Given the description of an element on the screen output the (x, y) to click on. 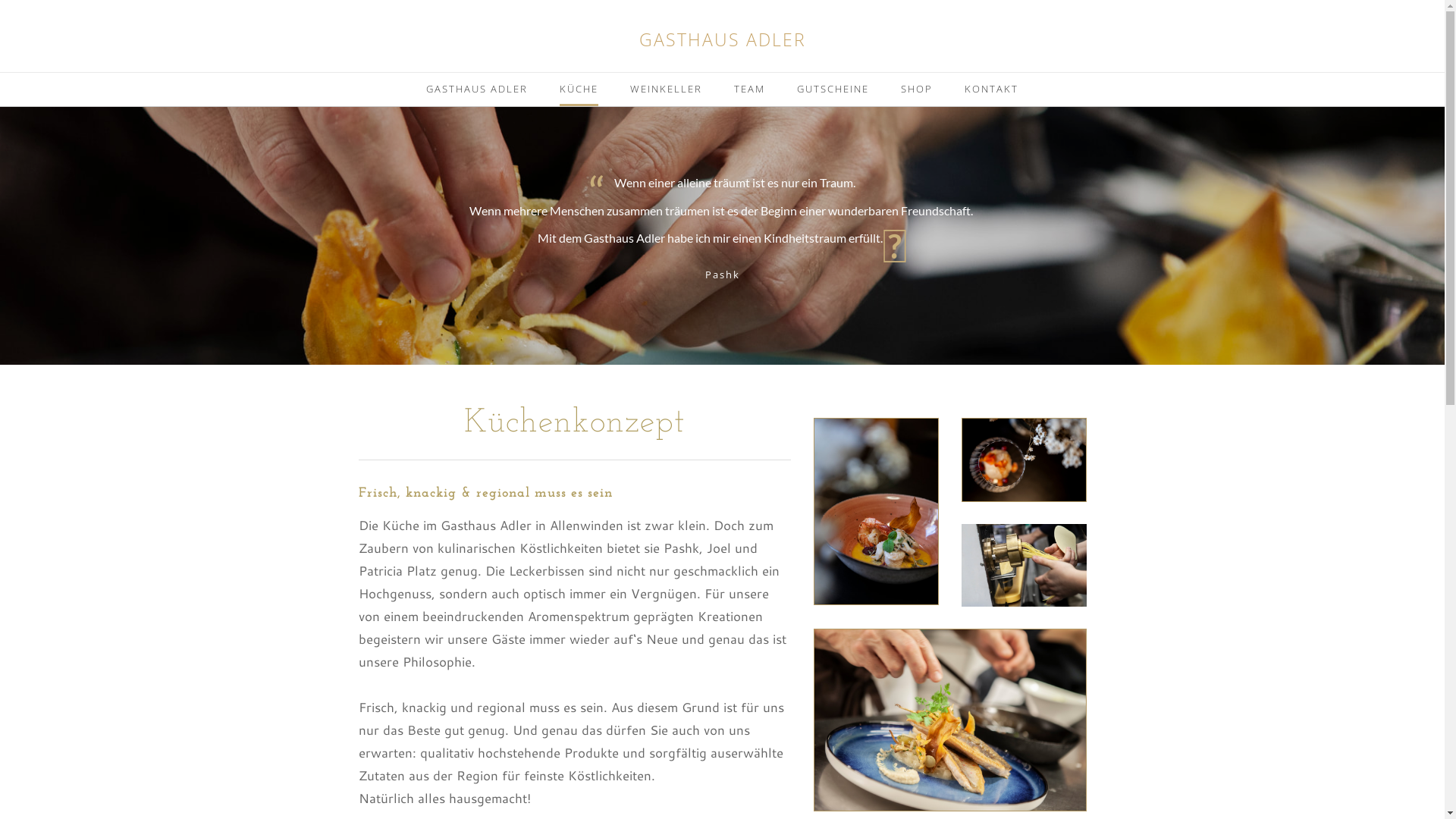
GASTHAUS ADLER Element type: text (476, 93)
SHOP Element type: text (916, 93)
GUTSCHEINE Element type: text (833, 93)
GASTHAUS ADLER Element type: text (721, 39)
KONTAKT Element type: text (991, 93)
WEINKELLER Element type: text (666, 93)
TEAM Element type: text (749, 93)
